Given the description of an element on the screen output the (x, y) to click on. 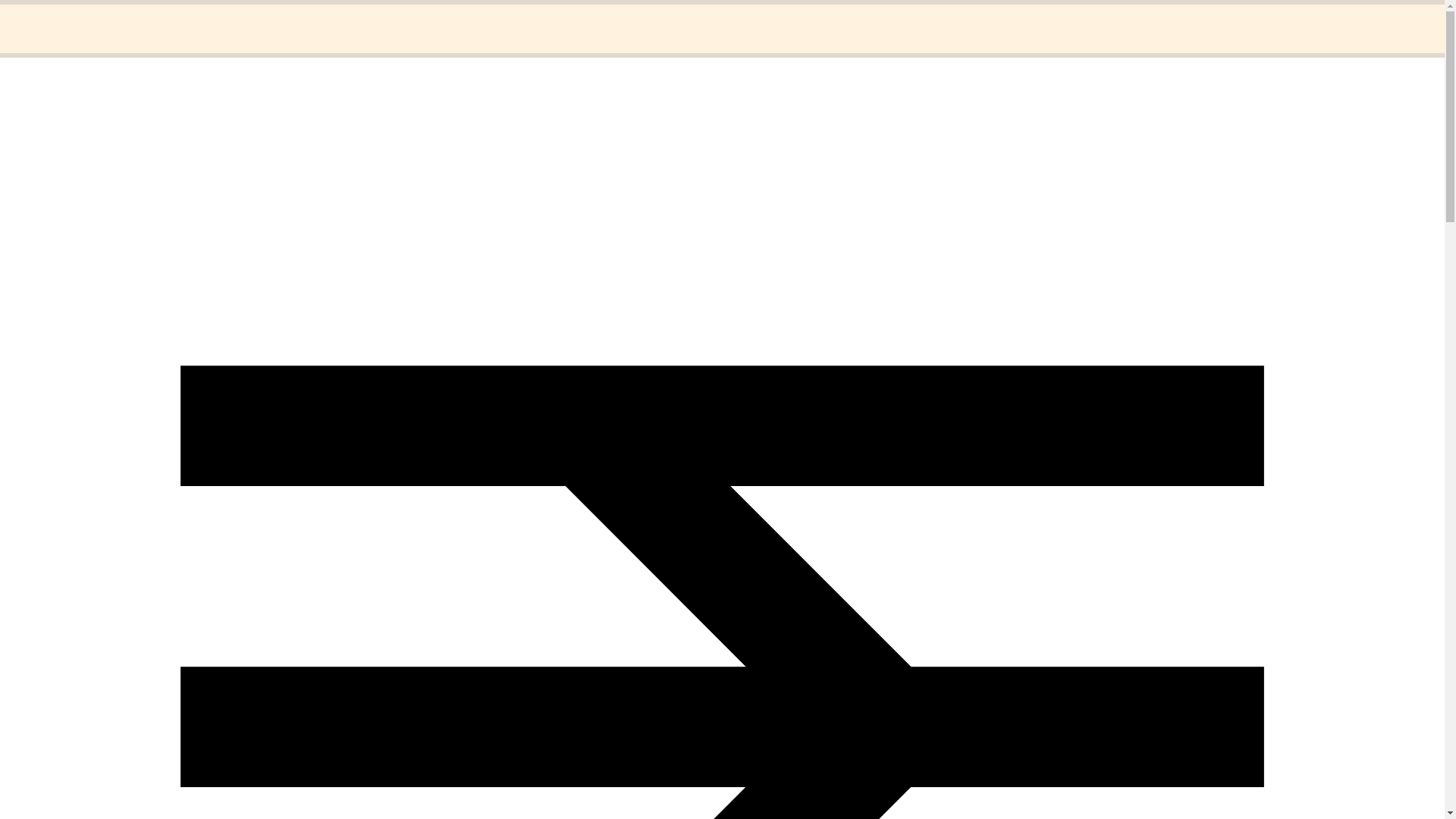
Home (50, 18)
